Given the description of an element on the screen output the (x, y) to click on. 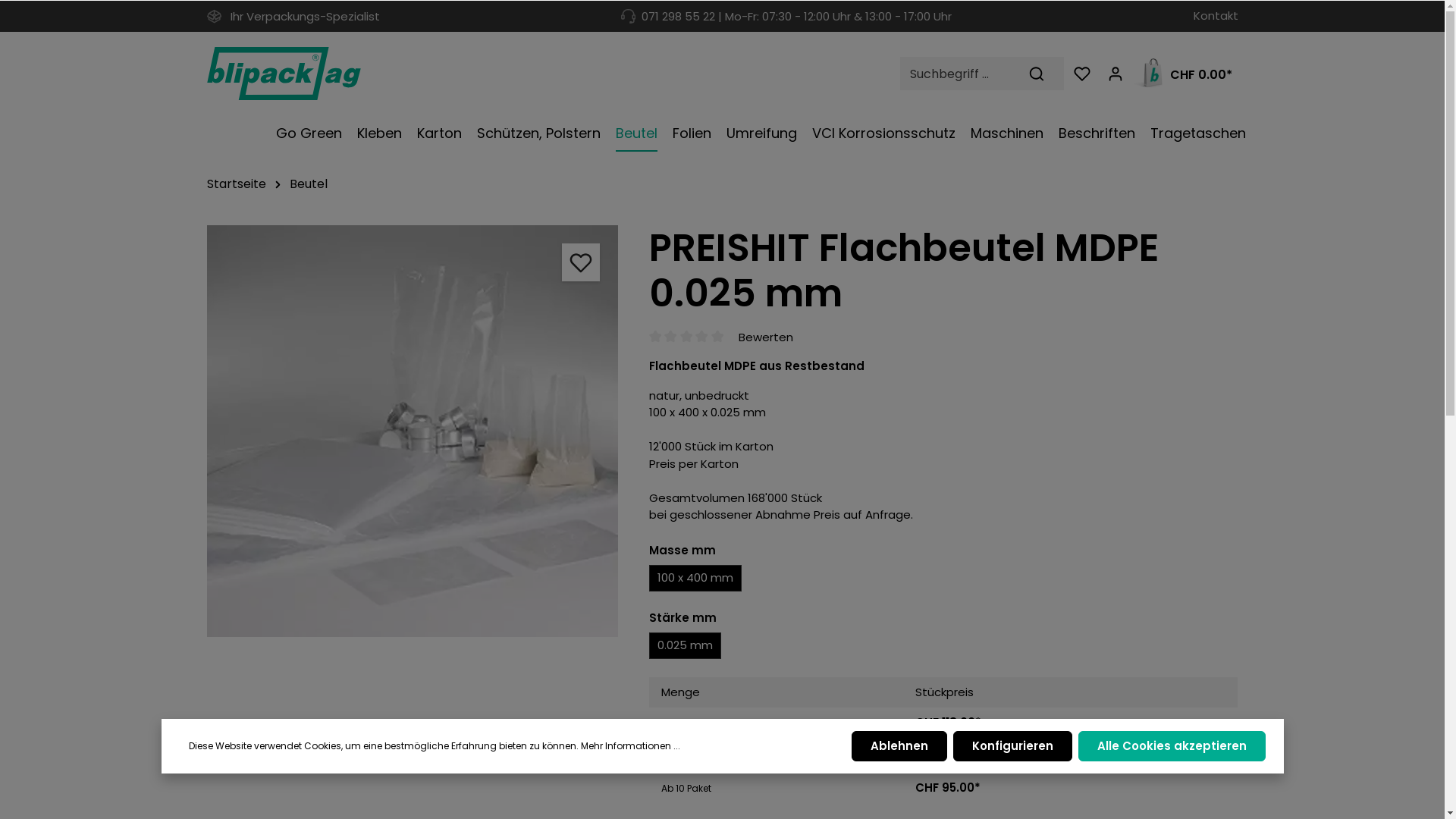
VCI Korrosionsschutz Element type: text (882, 133)
Karton Element type: text (439, 133)
Alle Cookies akzeptieren Element type: text (1171, 746)
Startseite Element type: text (235, 183)
Tragetaschen Element type: text (1197, 133)
pe_flachbeutel Element type: hover (412, 431)
Merken Element type: hover (580, 262)
Kontakt Element type: text (1215, 16)
Folien Element type: text (691, 133)
Konfigurieren Element type: text (1011, 746)
071 298 55 22 Element type: text (678, 16)
Mein Konto Element type: hover (1114, 73)
Zur Startseite wechseln Element type: hover (283, 73)
Merkzettel Element type: hover (1081, 73)
Mehr Informationen ... Element type: text (630, 746)
Umreifung Element type: text (761, 133)
Ablehnen Element type: text (898, 746)
Beutel Element type: text (308, 183)
Maschinen Element type: text (1007, 133)
Beschriften Element type: text (1096, 133)
CHF 0.00* Element type: text (1184, 73)
Bewerten Element type: text (765, 337)
Go Green Element type: text (308, 133)
Kleben Element type: text (378, 133)
Beutel Element type: text (636, 133)
